Given the description of an element on the screen output the (x, y) to click on. 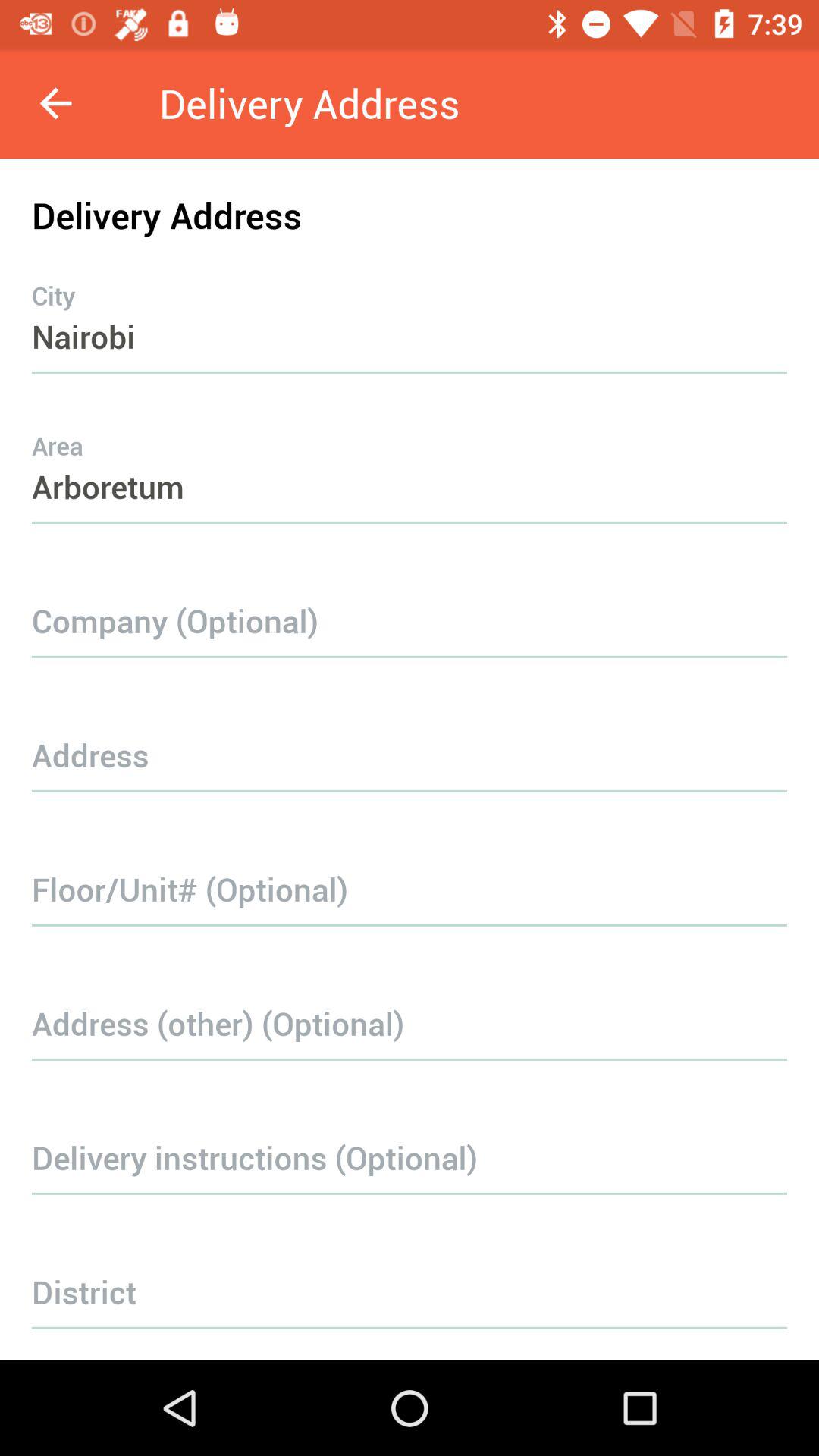
choose item below the arboretum item (409, 598)
